Given the description of an element on the screen output the (x, y) to click on. 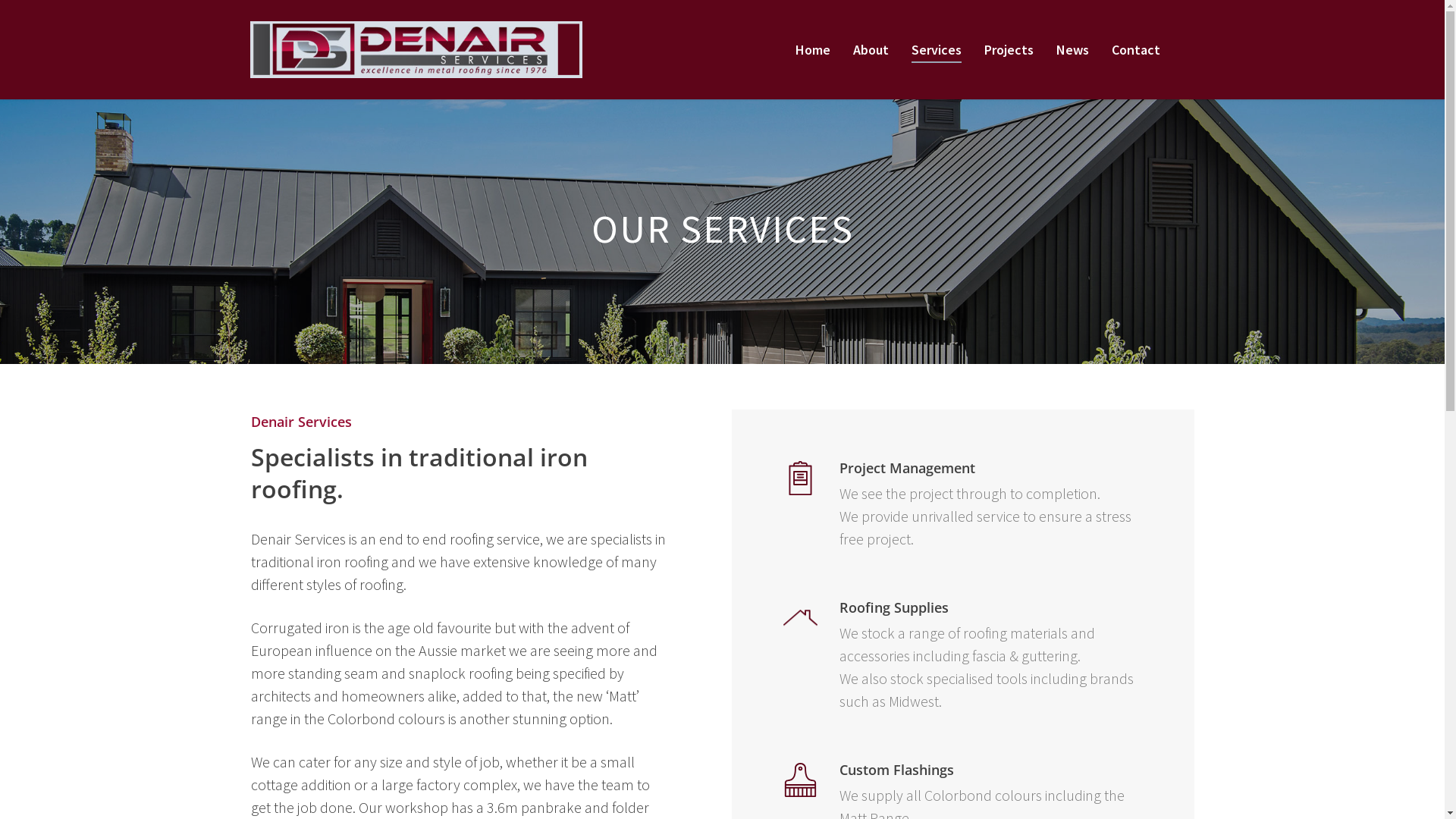
News Element type: text (1072, 49)
Home Element type: text (812, 49)
About Element type: text (870, 49)
Contact Element type: text (1135, 49)
Projects Element type: text (1008, 49)
Services Element type: text (936, 49)
